Given the description of an element on the screen output the (x, y) to click on. 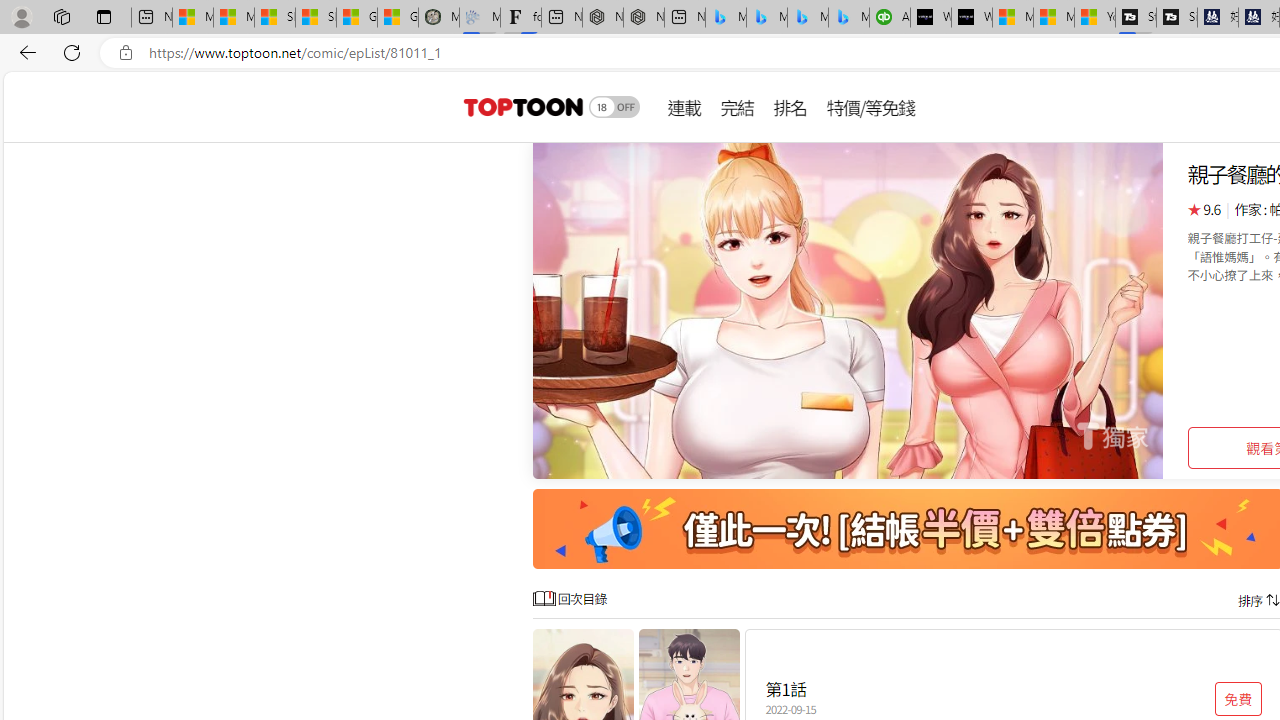
Accounting Software for Accountants, CPAs and Bookkeepers (890, 17)
Gilma and Hector both pose tropical trouble for Hawaii (397, 17)
Microsoft Bing Travel - Shangri-La Hotel Bangkok (849, 17)
